Given the description of an element on the screen output the (x, y) to click on. 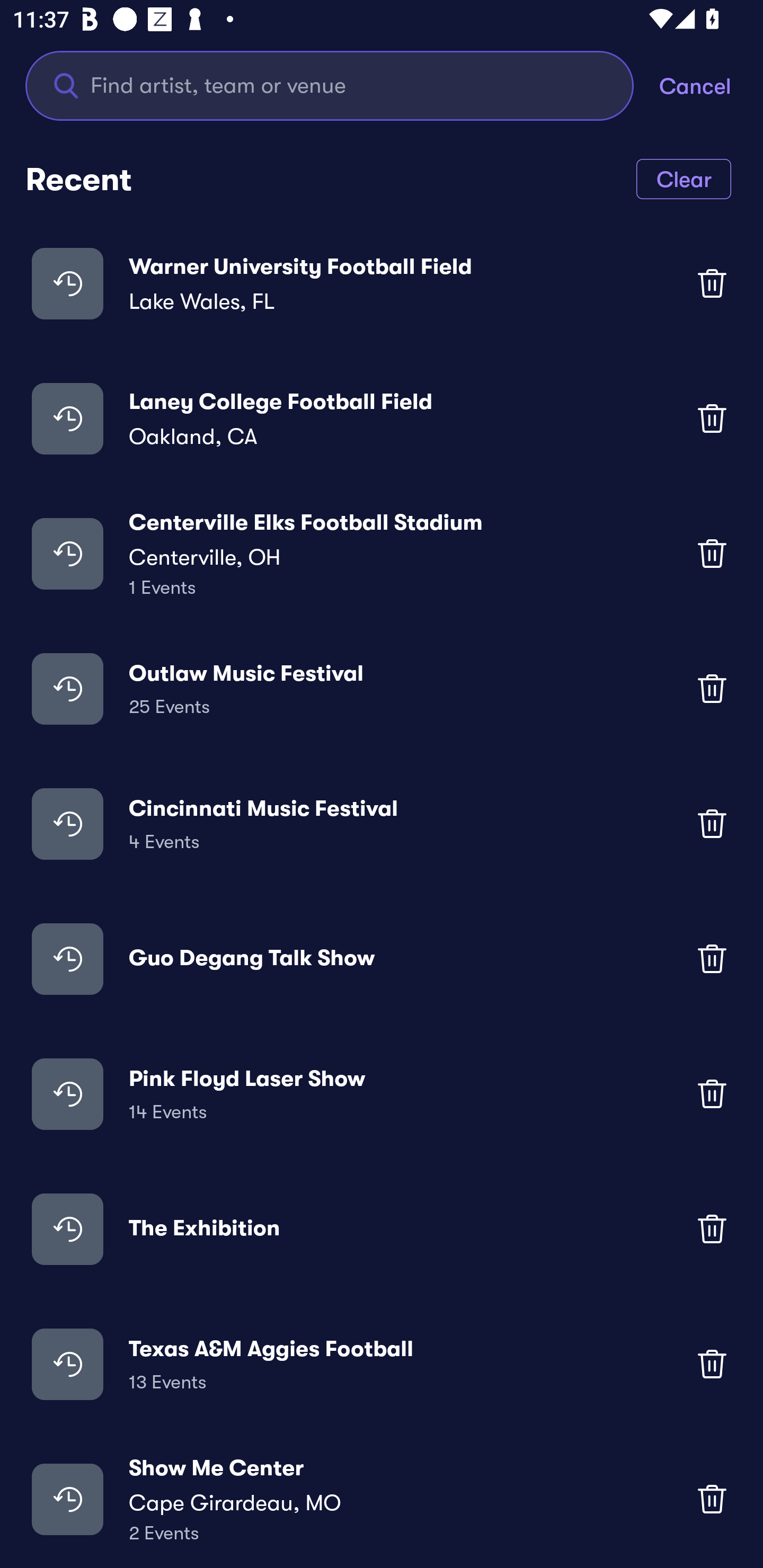
Cancel (711, 85)
Find artist, team or venue Find (329, 85)
Find artist, team or venue Find (341, 85)
Clear (683, 178)
Warner University Football Field Lake Wales, FL (381, 282)
Laney College Football Field Oakland, CA (381, 417)
Outlaw Music Festival 25 Events (381, 688)
Cincinnati Music Festival 4 Events (381, 823)
Guo Degang Talk Show (381, 958)
Pink Floyd Laser Show 14 Events (381, 1093)
The Exhibition (381, 1228)
Texas A&M Aggies Football 13 Events (381, 1364)
Show Me Center Cape Girardeau, MO 2 Events (381, 1498)
